Given the description of an element on the screen output the (x, y) to click on. 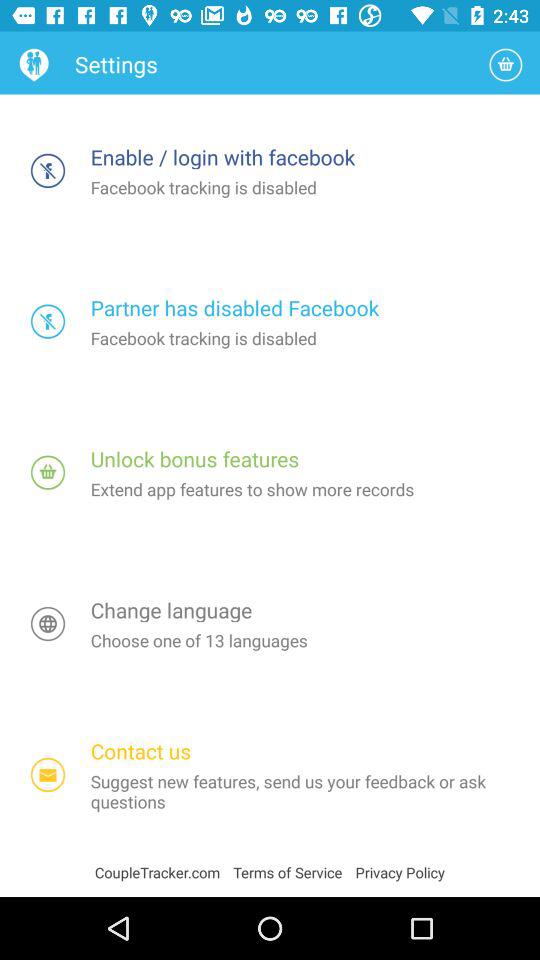
facebook tracking is disabled (47, 170)
